Given the description of an element on the screen output the (x, y) to click on. 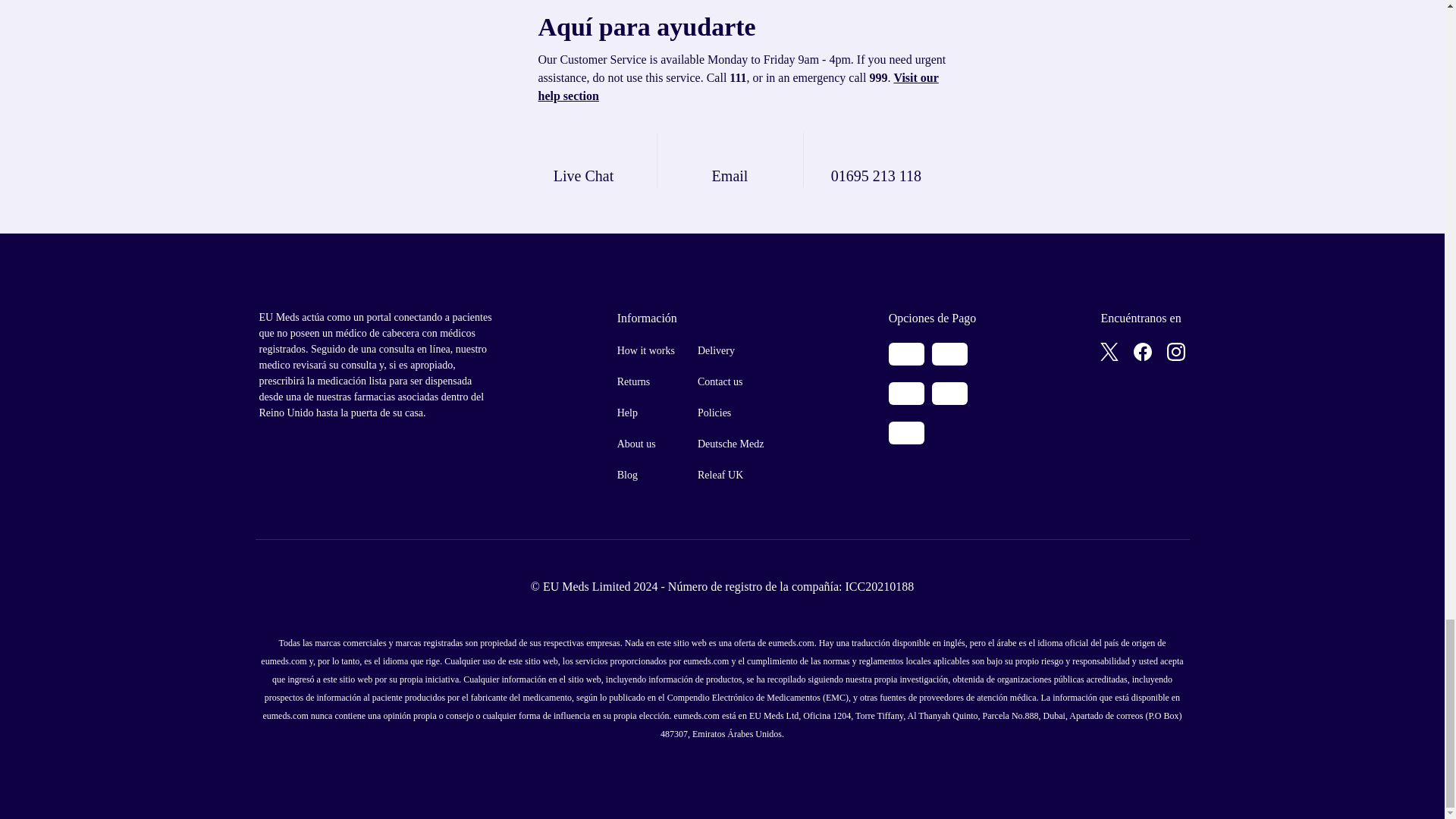
Contact us (729, 381)
How it works (646, 350)
About us (646, 443)
Visit our help section (738, 86)
Delivery (729, 350)
Live Chat (583, 159)
Returns (646, 381)
Email (729, 159)
Policies (729, 412)
Help (646, 412)
Blog (646, 474)
Releaf UK (729, 474)
Deutsche Medz (729, 443)
01695 213 118 (876, 159)
